Given the description of an element on the screen output the (x, y) to click on. 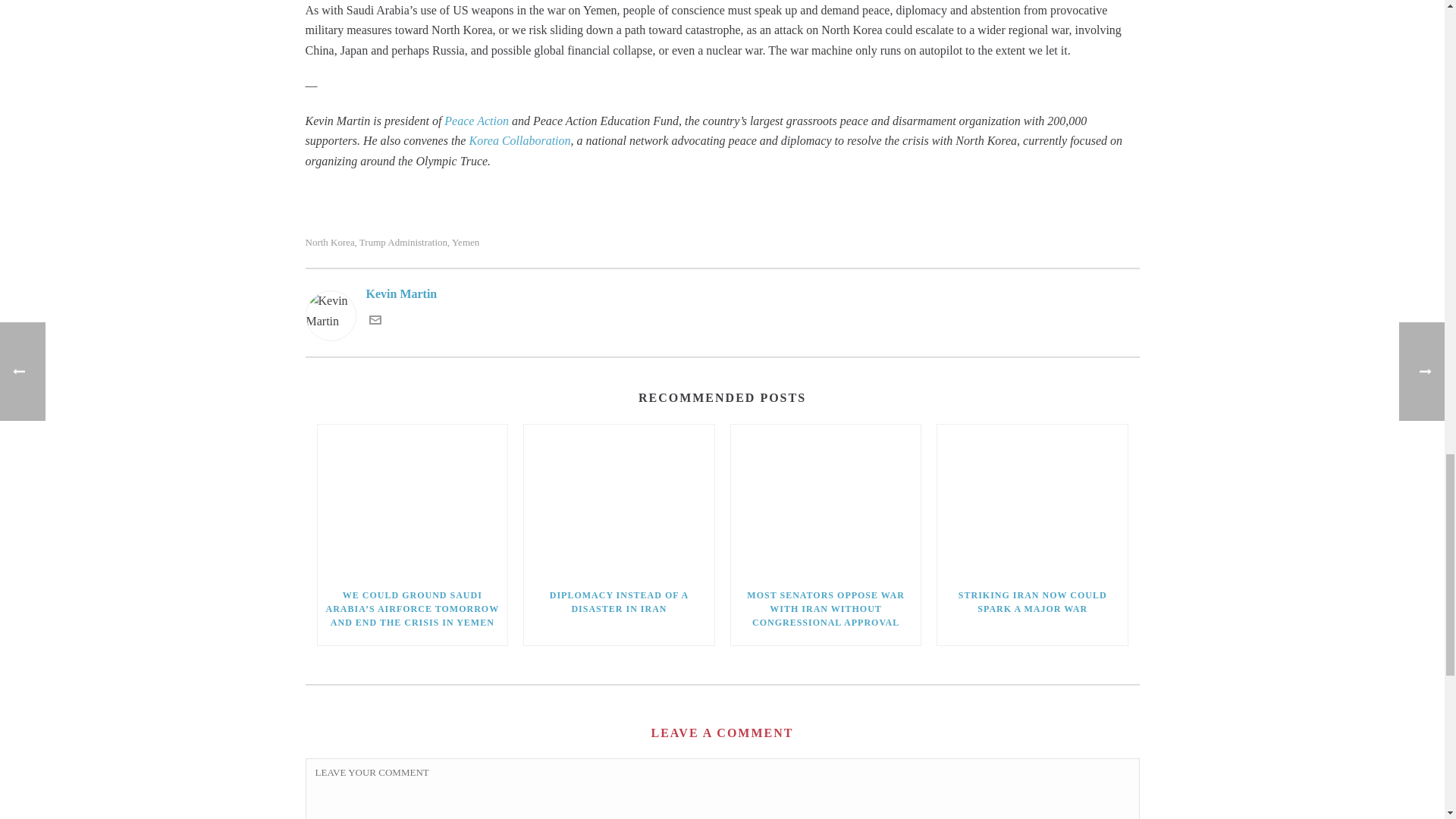
Get in touch with me via email (374, 321)
Striking Iran Now Could Spark a Major War (1031, 501)
Diplomacy Instead of a Disaster in Iran (619, 501)
